Given the description of an element on the screen output the (x, y) to click on. 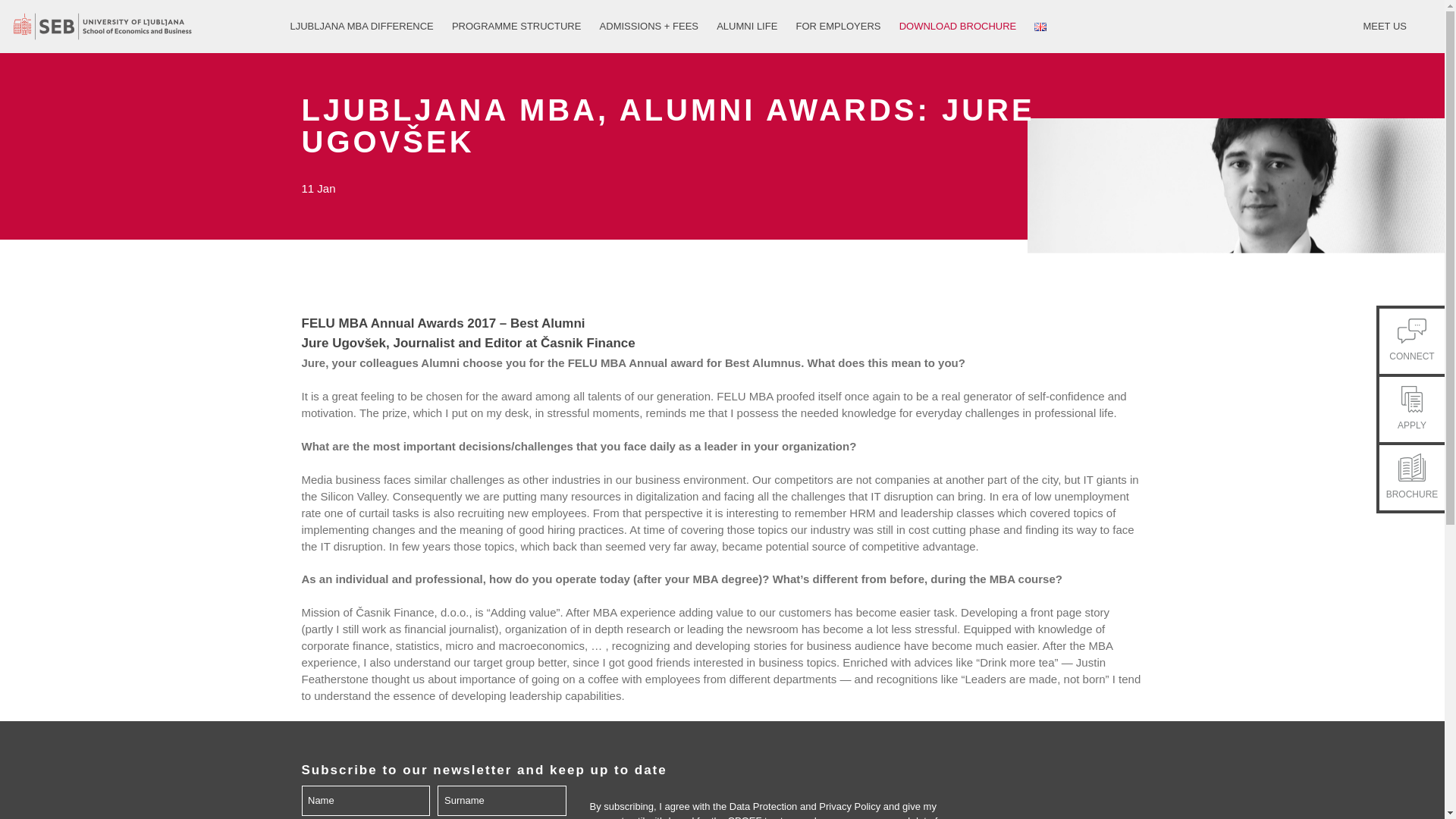
DOWNLOAD BROCHURE (958, 26)
PROGRAMME STRUCTURE (516, 26)
icn-brochure (1411, 466)
LJUBLJANA MBA DIFFERENCE (365, 26)
FOR EMPLOYERS (838, 26)
MEET US (1384, 26)
Data Protection and Privacy Policy (804, 806)
icn-conect (1411, 330)
ALUMNI LIFE (746, 26)
